Given the description of an element on the screen output the (x, y) to click on. 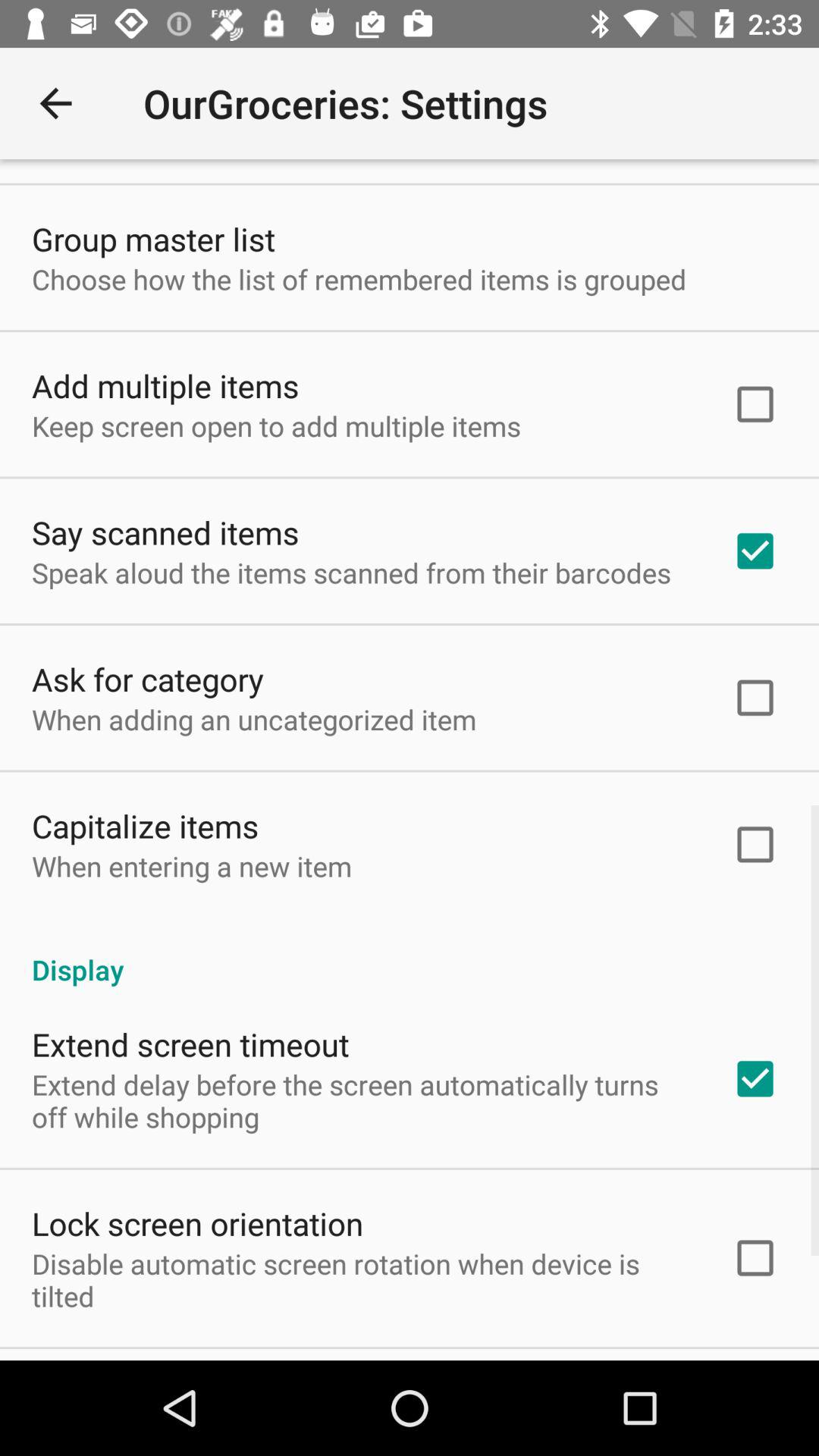
launch icon below extend screen timeout (361, 1100)
